Given the description of an element on the screen output the (x, y) to click on. 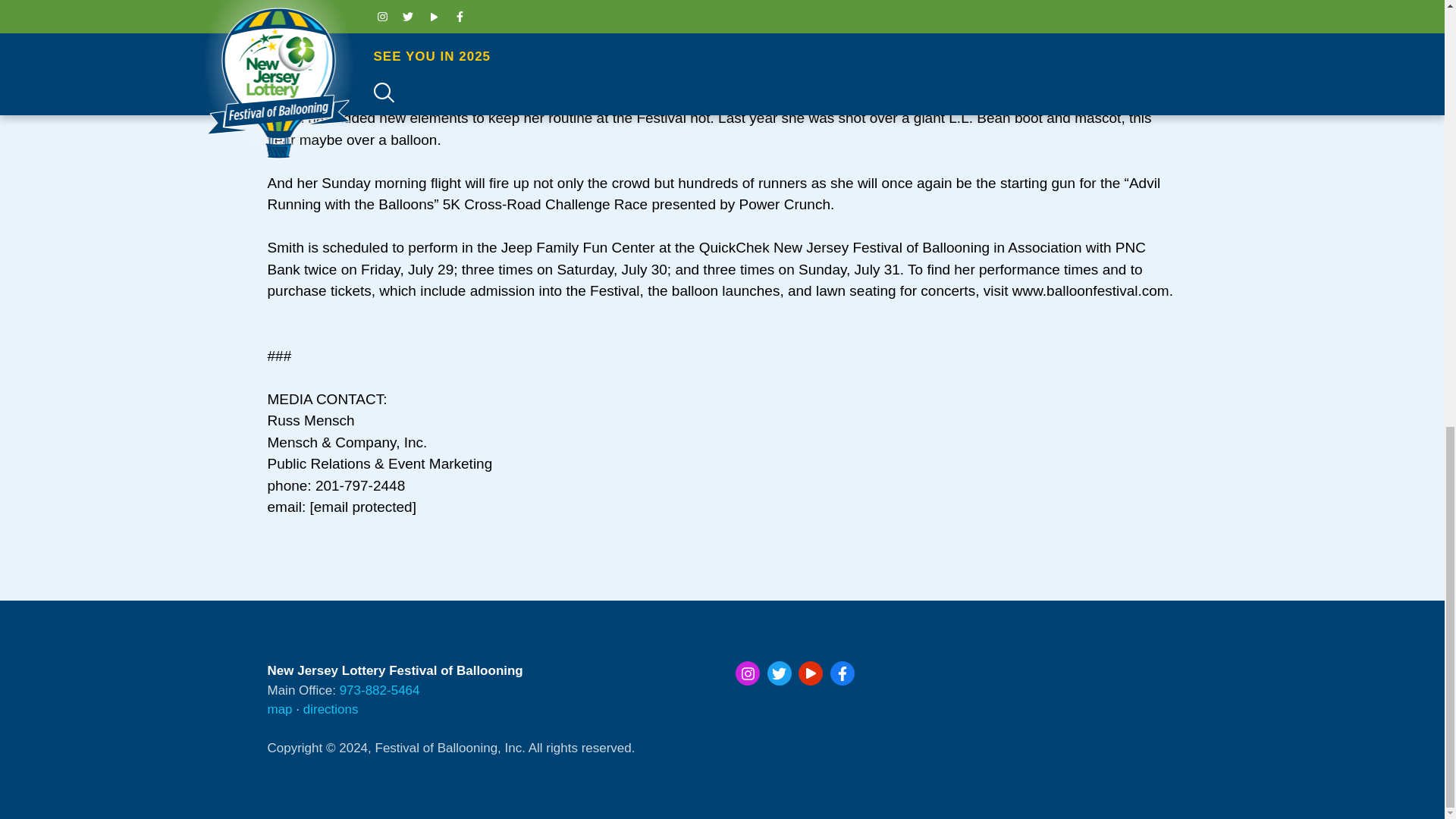
973-882-5464 (379, 690)
directions (330, 708)
map (279, 708)
